Given the description of an element on the screen output the (x, y) to click on. 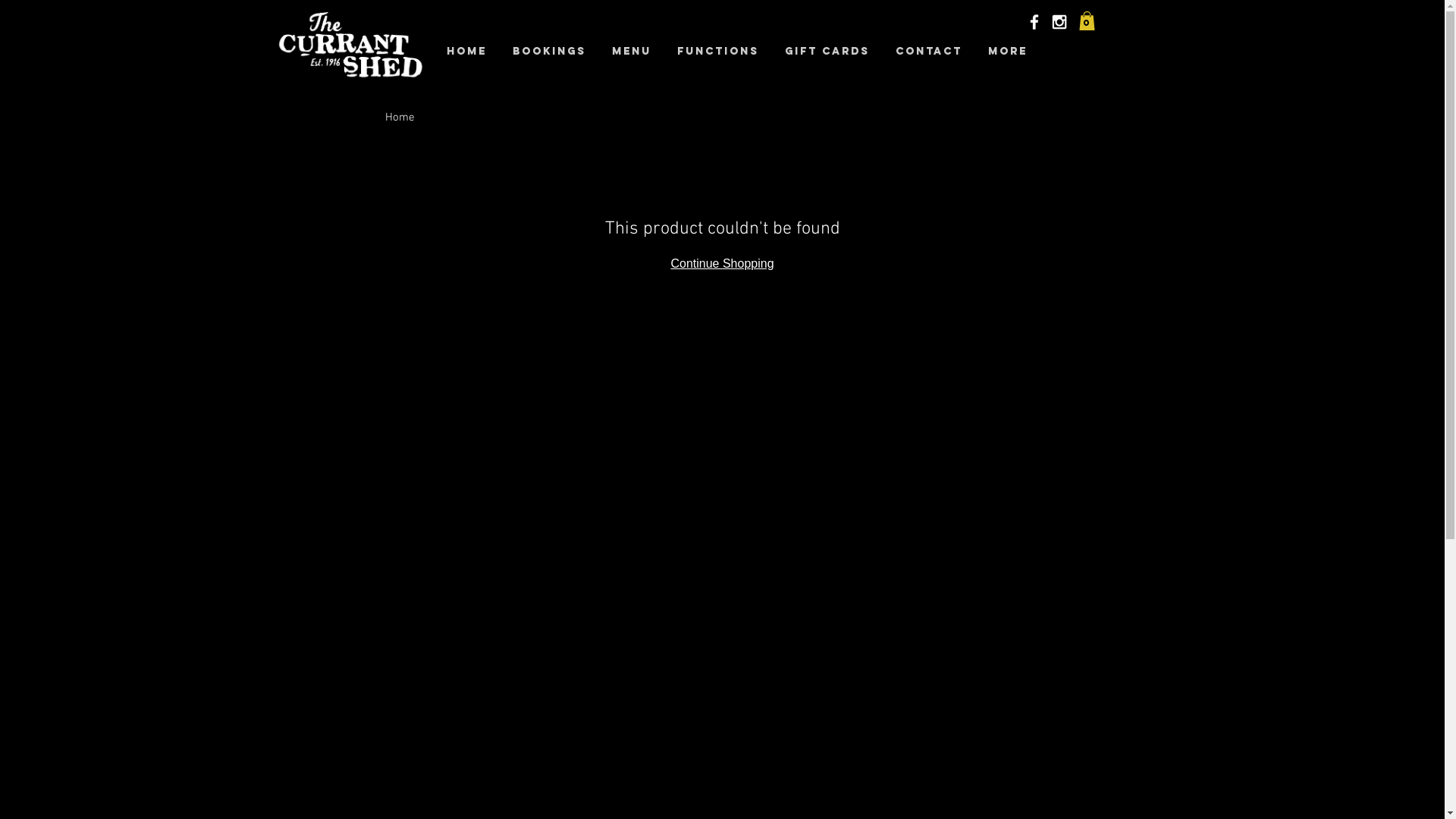
Home Element type: text (399, 117)
Home Element type: text (466, 51)
Bookings Element type: text (549, 51)
Functions Element type: text (717, 51)
Contact Element type: text (928, 51)
0 Element type: text (1086, 20)
Continue Shopping Element type: text (721, 263)
Gift Cards Element type: text (826, 51)
